Given the description of an element on the screen output the (x, y) to click on. 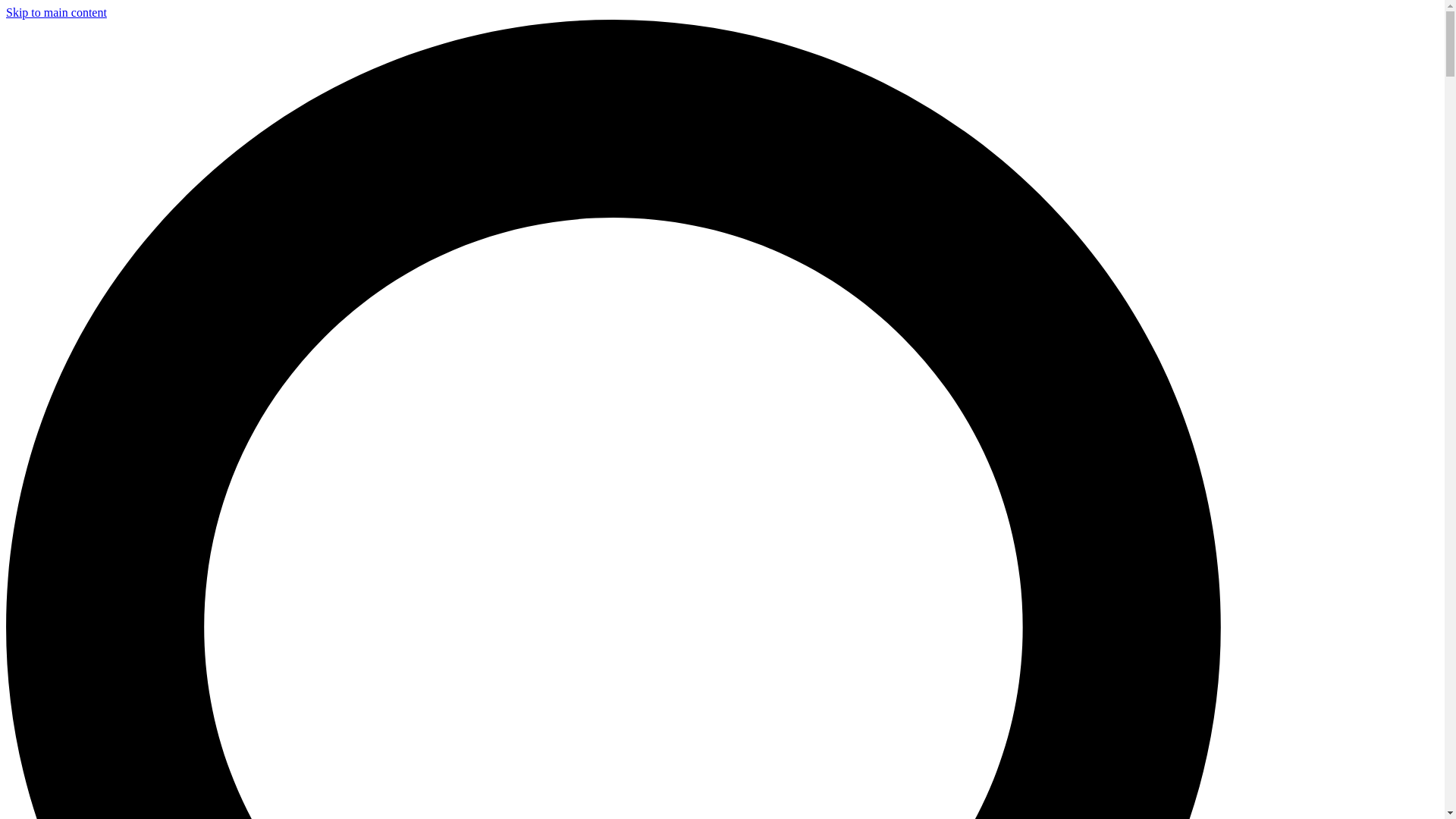
Skip to main content (55, 11)
